Given the description of an element on the screen output the (x, y) to click on. 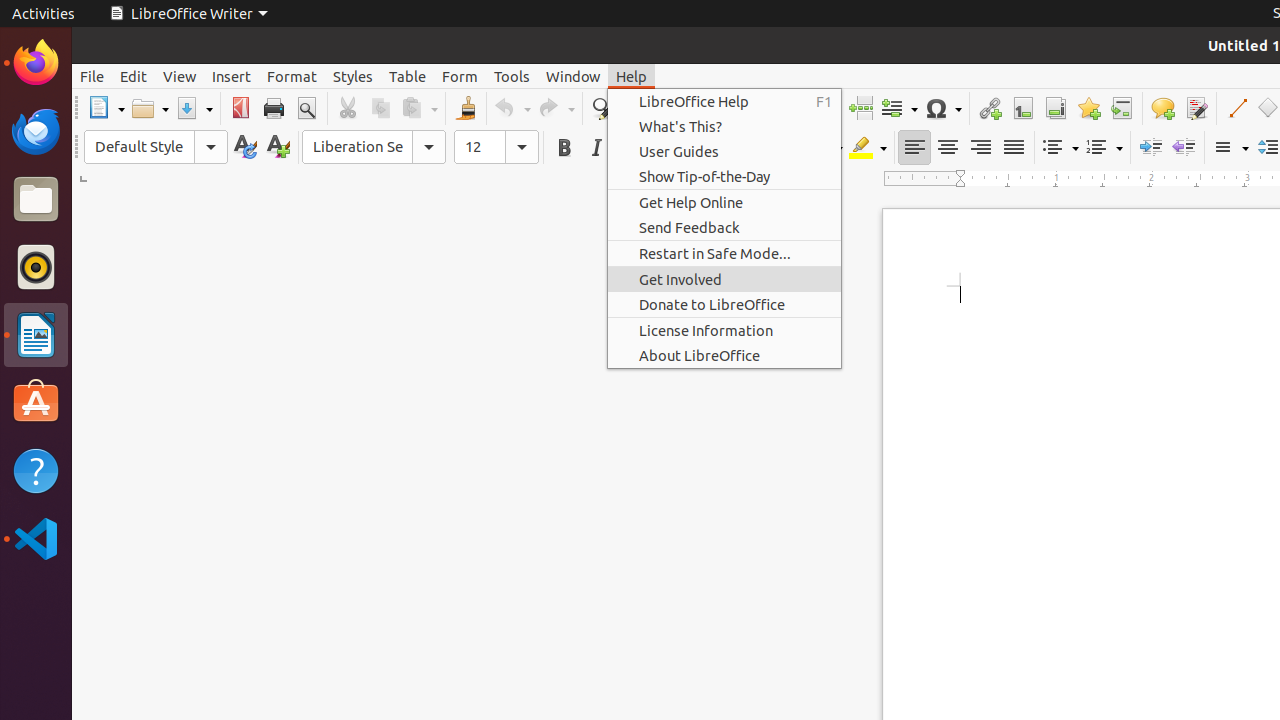
Bookmark Element type: push-button (1088, 108)
Copy Element type: push-button (380, 108)
Right Element type: toggle-button (980, 147)
New Element type: push-button (277, 147)
Send Feedback Element type: menu-item (724, 227)
